Given the description of an element on the screen output the (x, y) to click on. 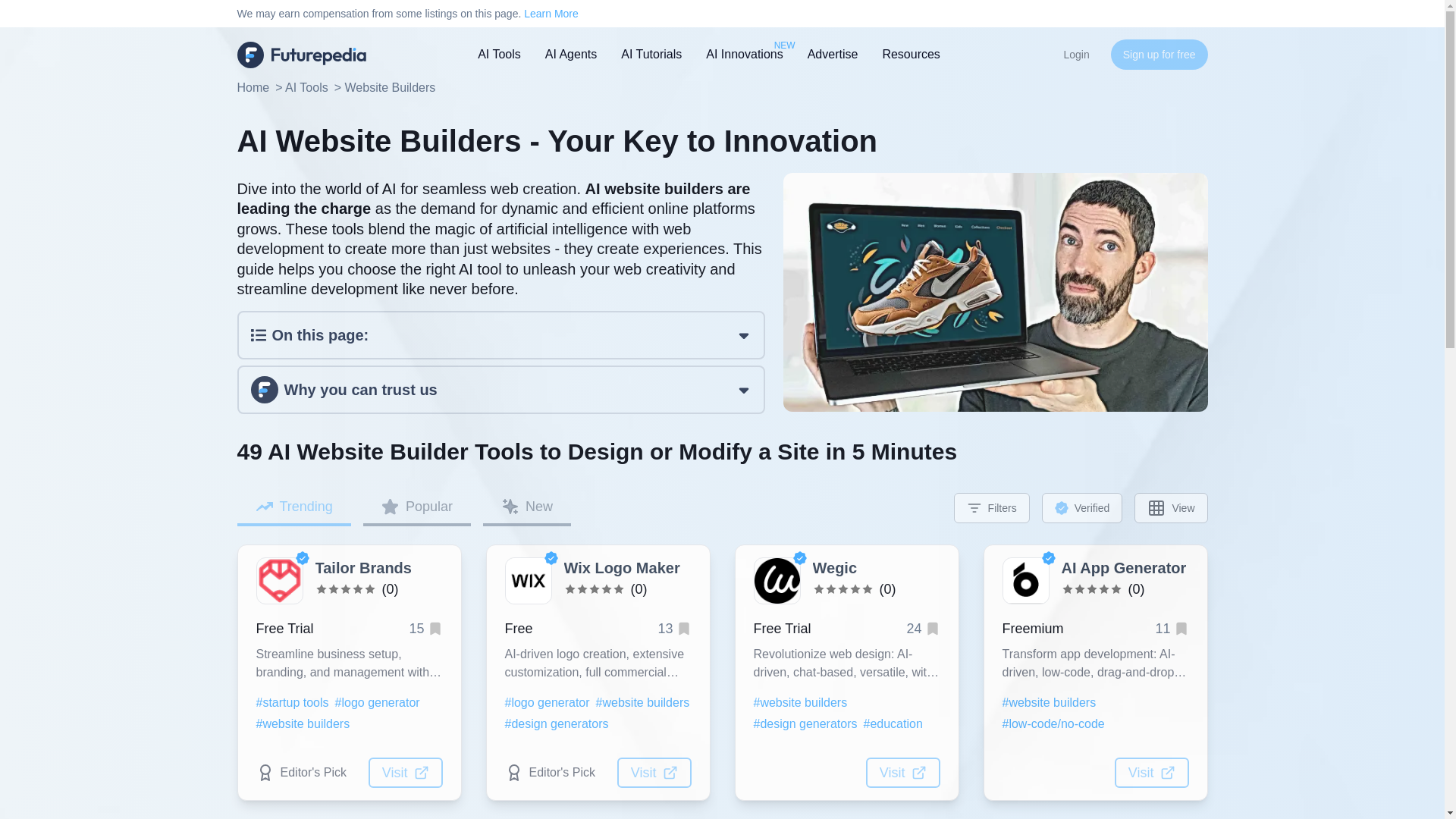
Resources (910, 53)
Login (1075, 54)
AI Agents (570, 54)
Home (252, 87)
Learn More (551, 13)
Verified (744, 54)
Trending (1082, 508)
Filters (292, 507)
AI Tools (991, 508)
